Given the description of an element on the screen output the (x, y) to click on. 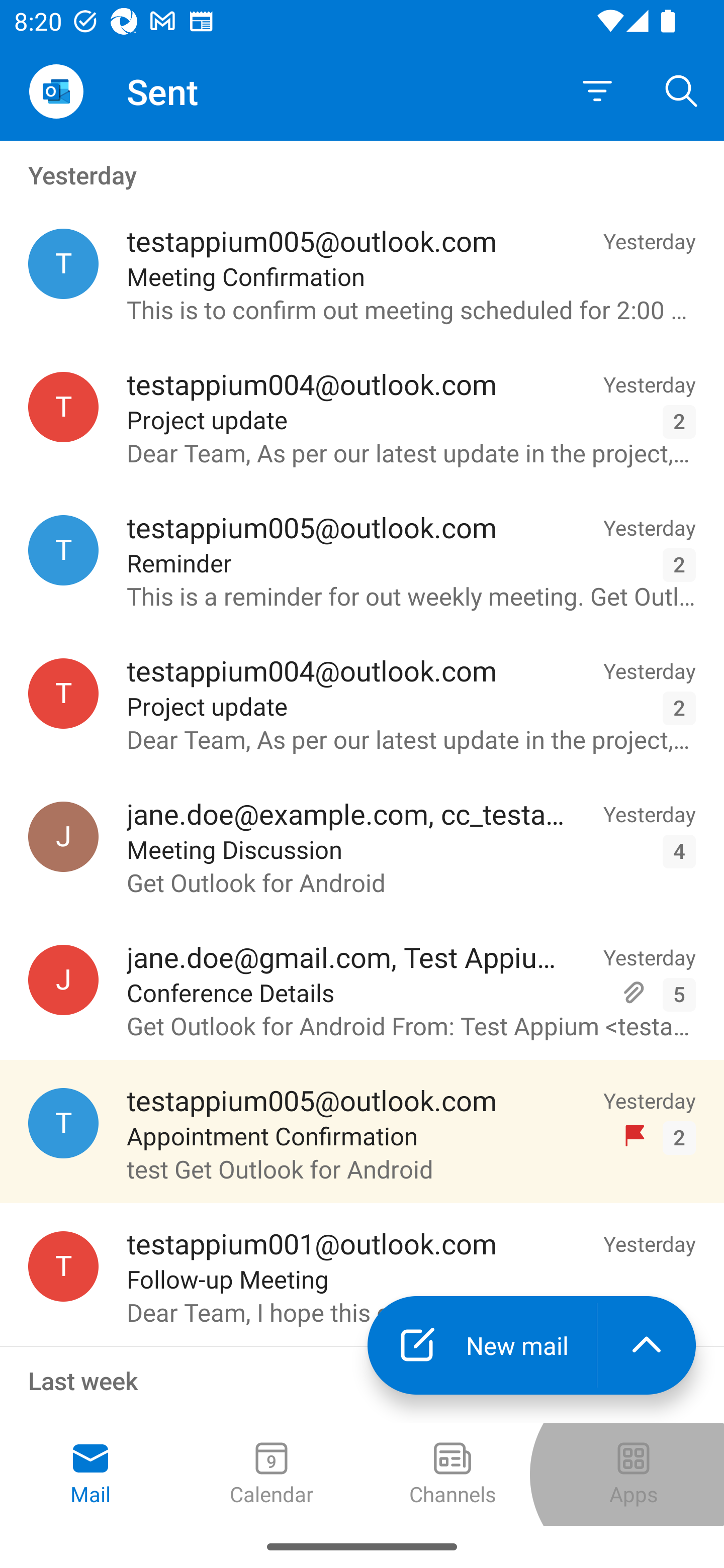
Search, ,  (681, 90)
Open Navigation Drawer (55, 91)
Filter (597, 91)
jane.doe@example.com, jane.doe@example.com (63, 836)
jane.doe@gmail.com, jane.doe@gmail.com (63, 979)
New mail (481, 1344)
launch the extended action menu (646, 1344)
Calendar (271, 1474)
Channels (452, 1474)
Apps (633, 1474)
